Given the description of an element on the screen output the (x, y) to click on. 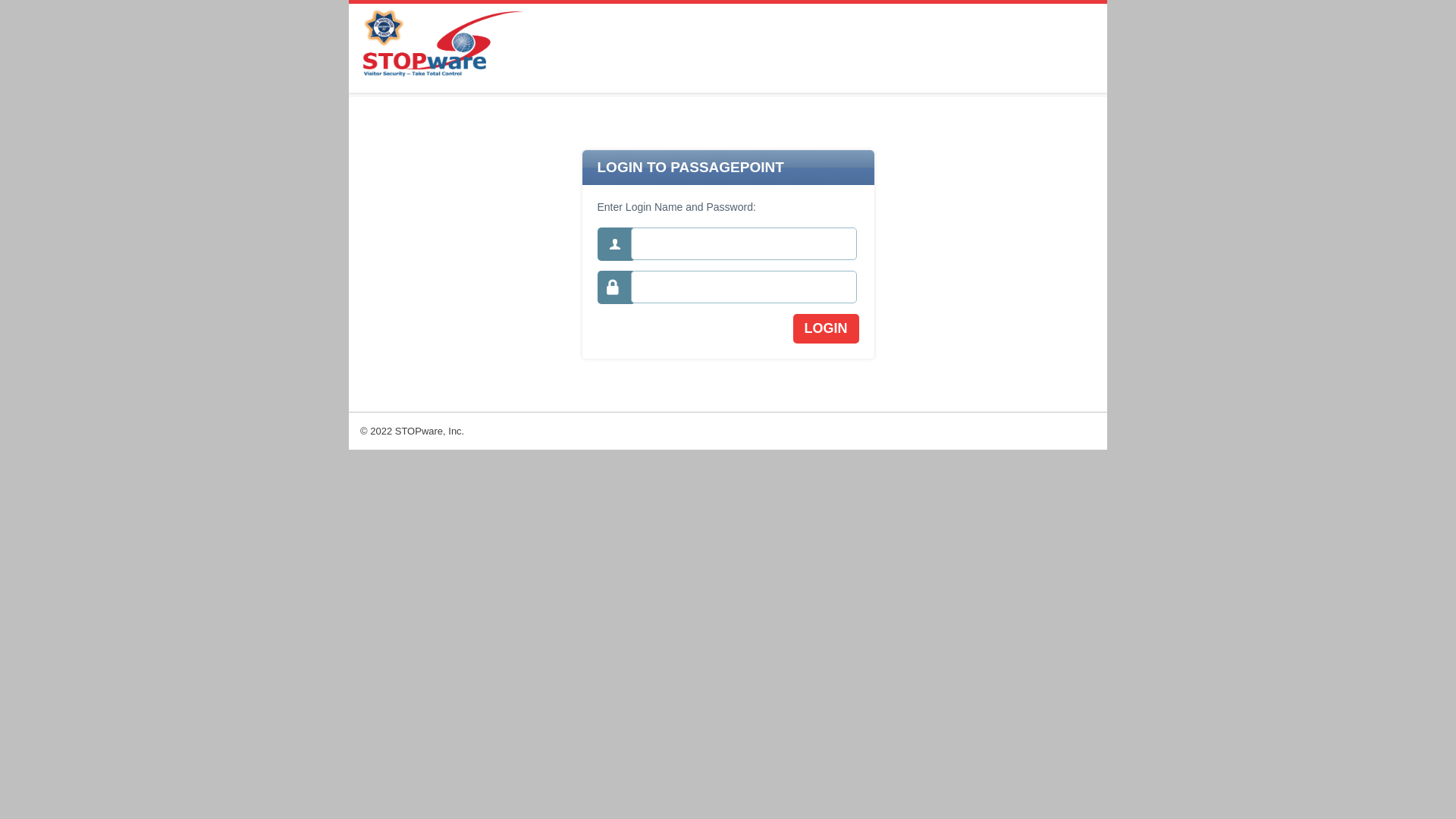
Login Name Element type: hover (743, 243)
LOGIN Element type: text (826, 328)
Password Element type: hover (743, 286)
